Given the description of an element on the screen output the (x, y) to click on. 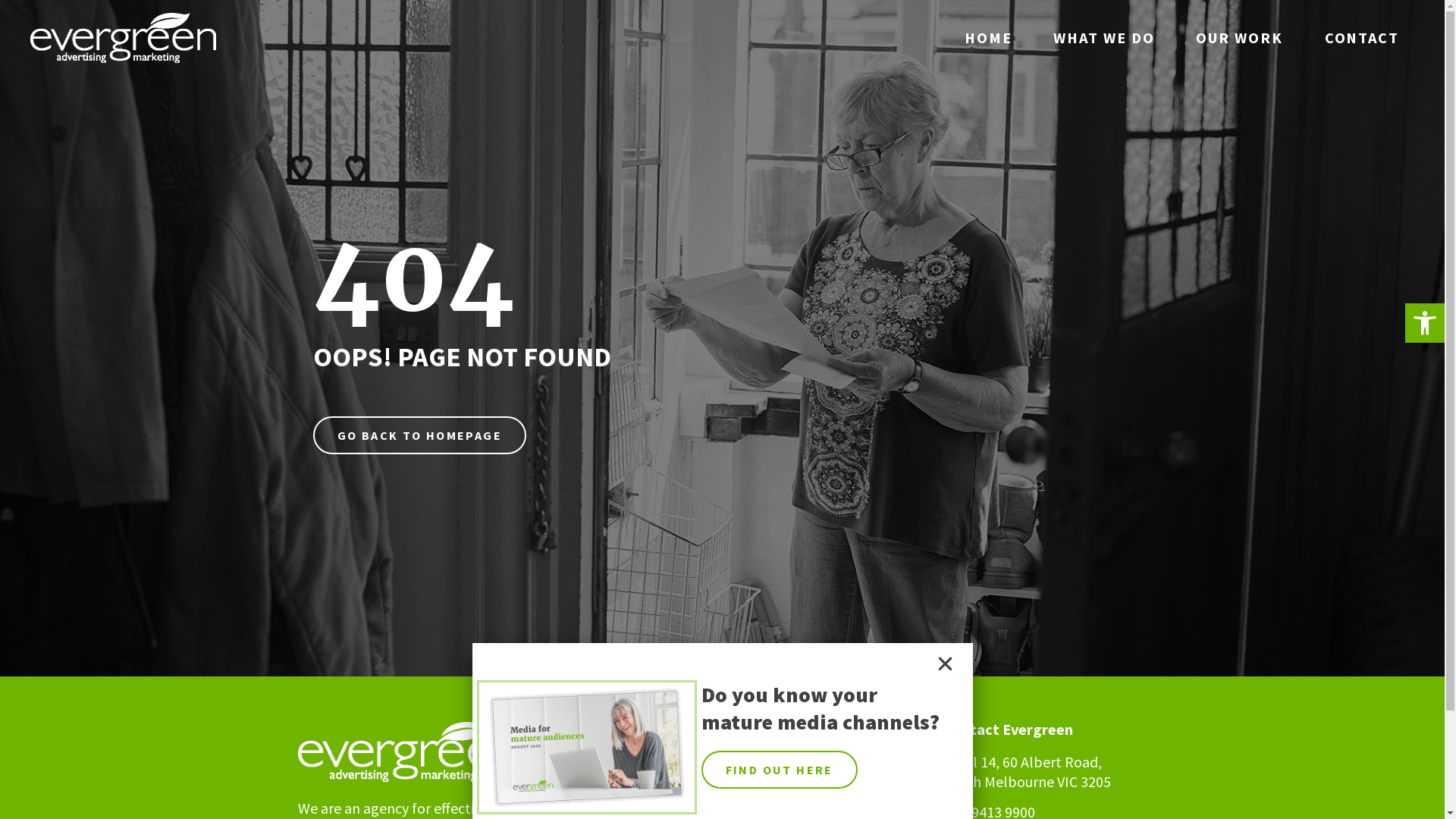
Do you know your mature media channels? Element type: text (819, 707)
FIND OUT HERE Element type: text (778, 769)
Open toolbar
Accessibility Tools Element type: text (1424, 322)
Level 14, 60 Albert Road,
South Melbourne VIC 3205 Element type: text (1026, 771)
HOME Element type: text (988, 37)
WHAT WE DO Element type: text (1103, 37)
Resources and articles Element type: text (828, 789)
OUR WORK Element type: text (1238, 37)
CONTACT Element type: text (1361, 37)
Gill Walker Element type: text (828, 763)
GO BACK TO HOMEPAGE Element type: text (419, 435)
